Given the description of an element on the screen output the (x, y) to click on. 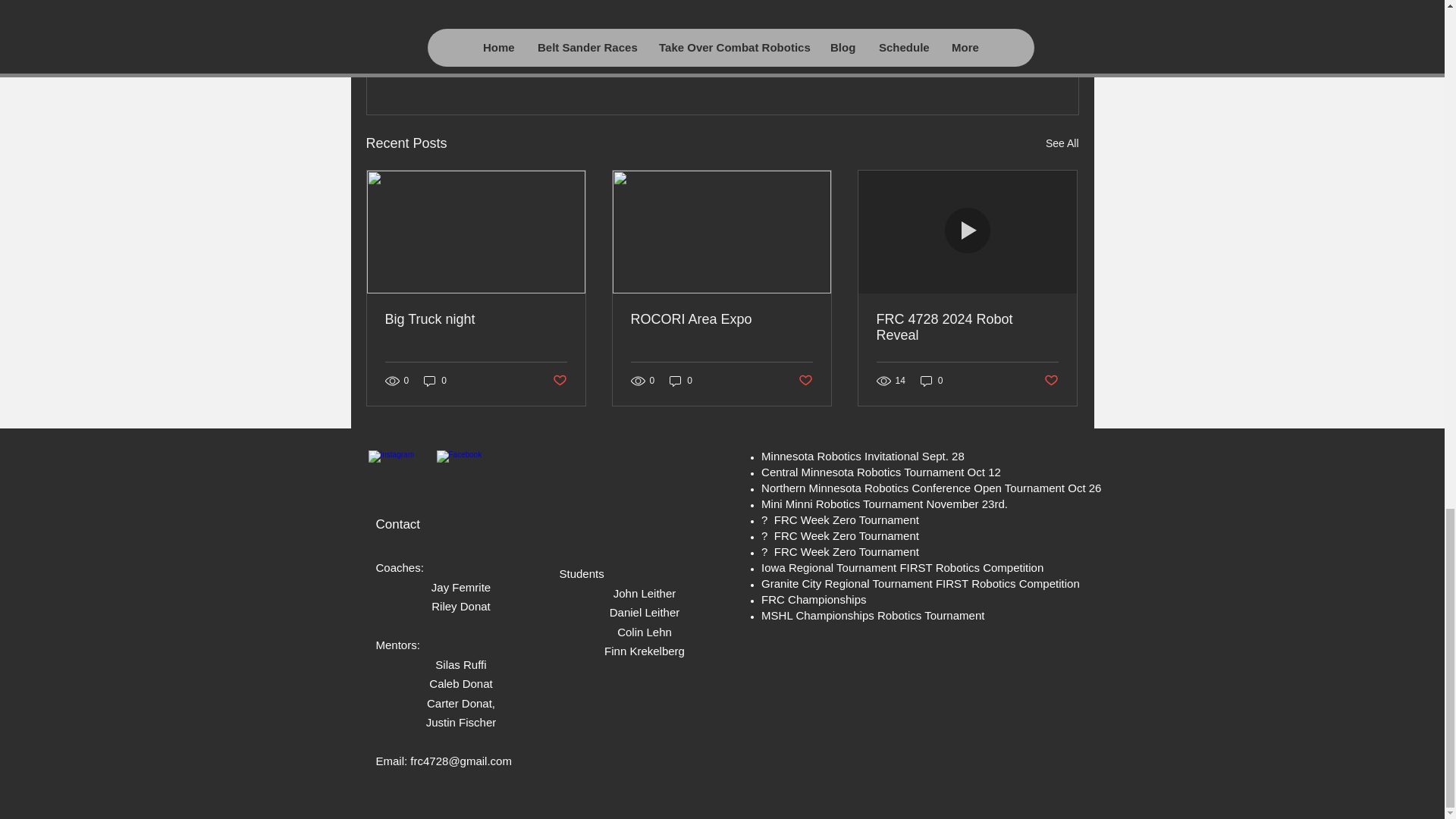
0 (931, 380)
ROCORI Area Expo (721, 319)
Post not marked as liked (1050, 381)
Post not marked as liked (995, 60)
Post not marked as liked (804, 381)
FRC 4728 2024 Robot Reveal (967, 327)
0 (435, 380)
Post not marked as liked (558, 381)
0 (681, 380)
See All (1061, 143)
